Given the description of an element on the screen output the (x, y) to click on. 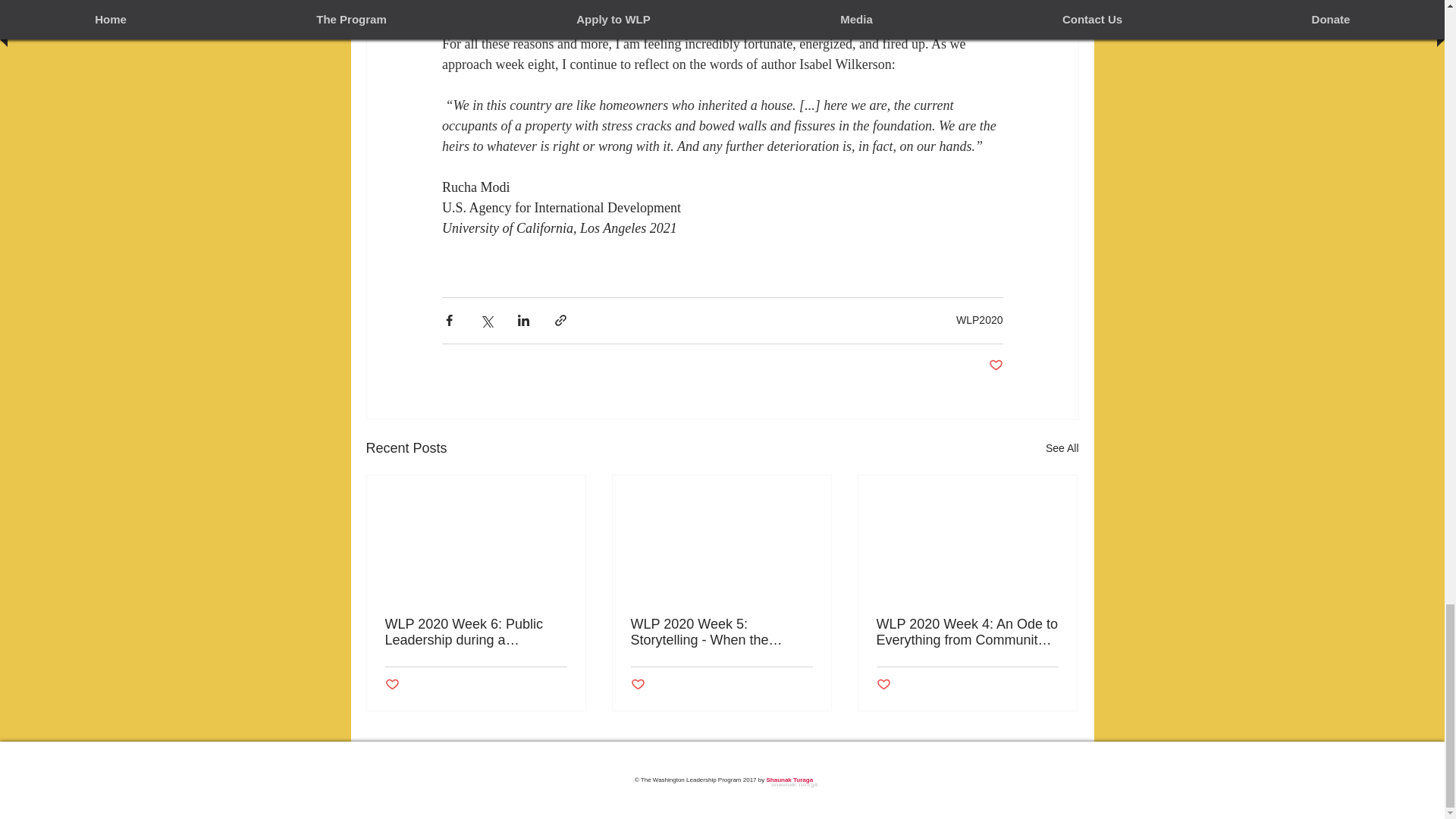
WLP 2020 Week 6: Public Leadership during a Pandemic (476, 632)
Post not marked as liked (391, 684)
WLP2020 (979, 319)
Post not marked as liked (637, 684)
See All (1061, 448)
Post not marked as liked (995, 365)
